Given the description of an element on the screen output the (x, y) to click on. 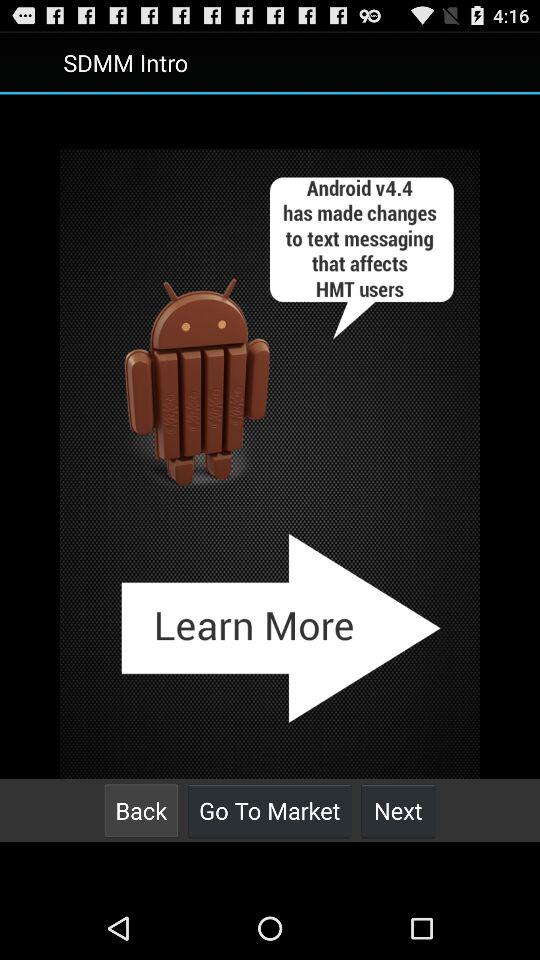
launch item to the right of back item (269, 810)
